Given the description of an element on the screen output the (x, y) to click on. 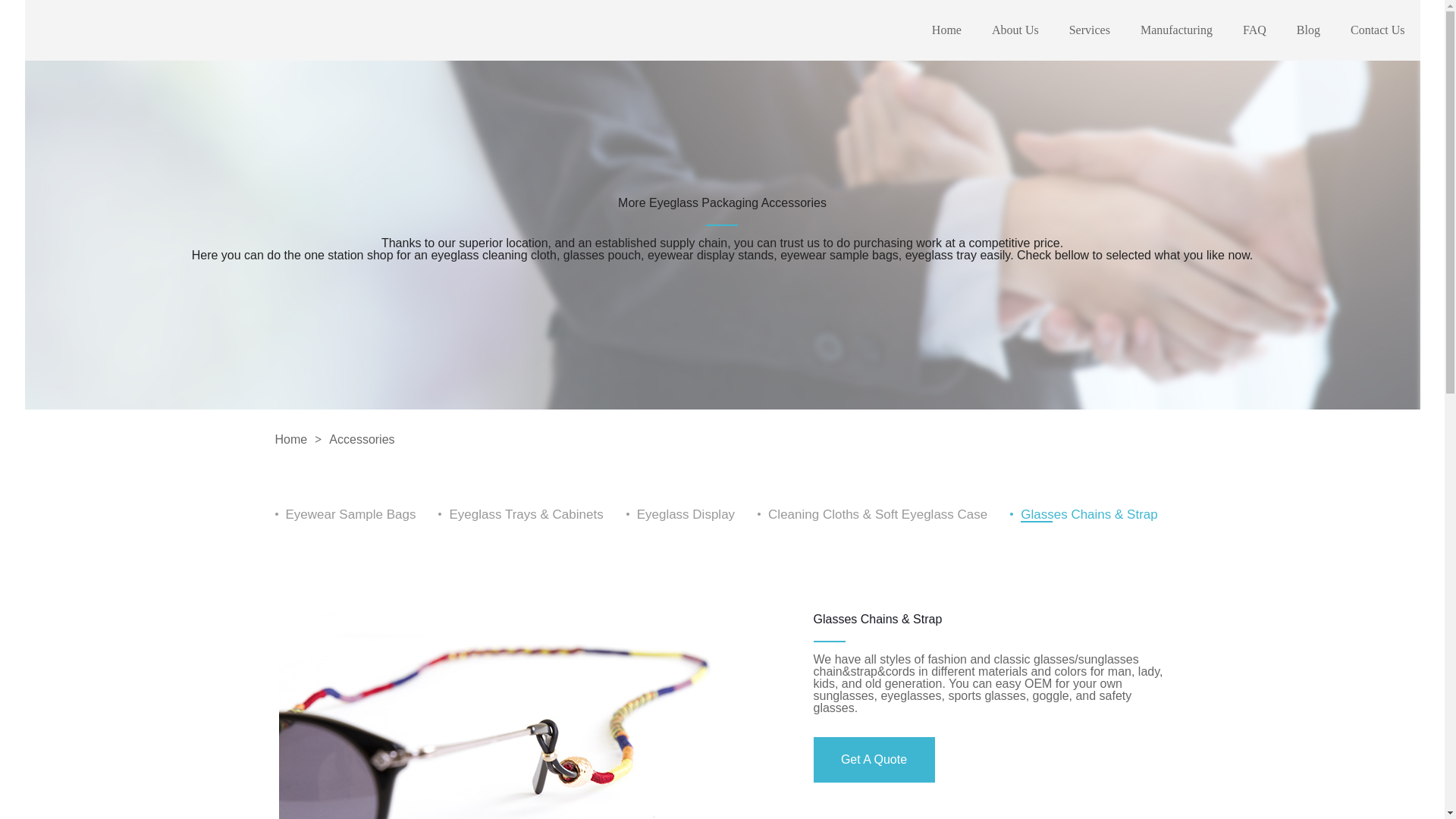
Contact Us (1378, 29)
FAQ (1254, 29)
Home (945, 29)
Services (1088, 29)
About Us (1015, 29)
Eyewear Sample Bags (349, 513)
Manufacturing (1176, 29)
Blog (1308, 29)
